Given the description of an element on the screen output the (x, y) to click on. 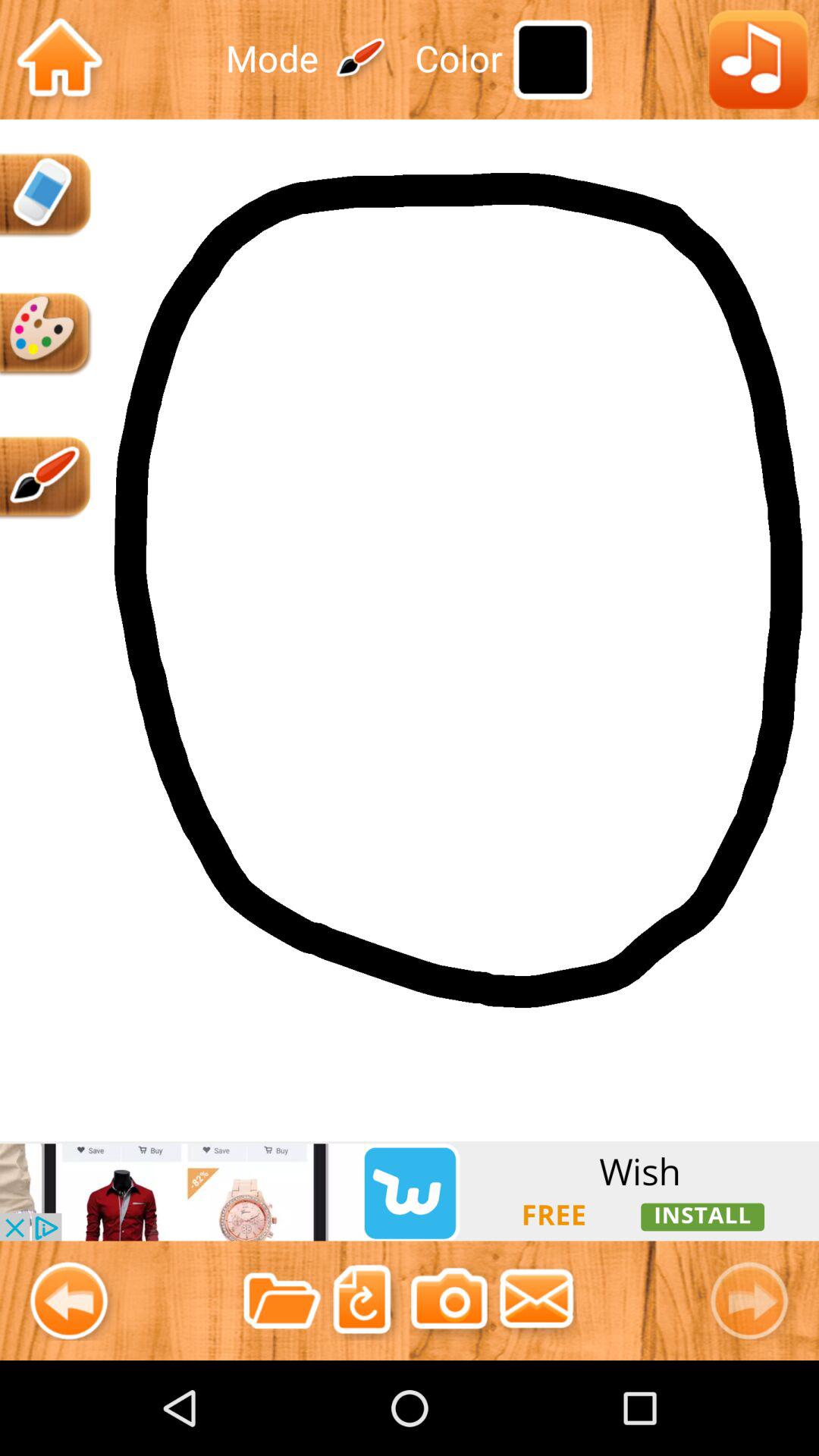
draw (47, 478)
